Given the description of an element on the screen output the (x, y) to click on. 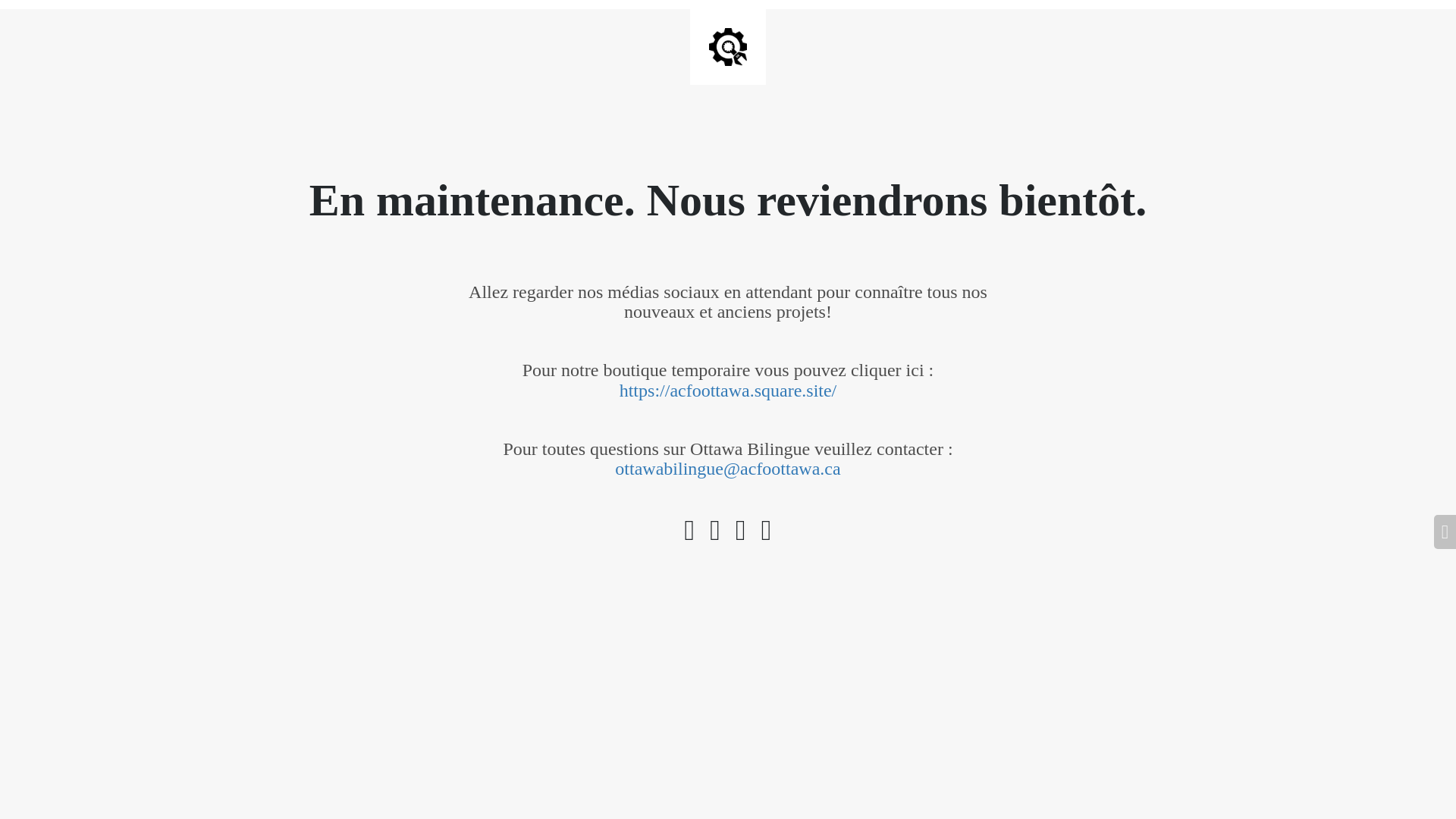
https://acfoottawa.square.site/ Element type: text (728, 390)
ottawabilingue@acfoottawa.ca Element type: text (727, 468)
Site is Under Construction Element type: hover (727, 46)
